Given the description of an element on the screen output the (x, y) to click on. 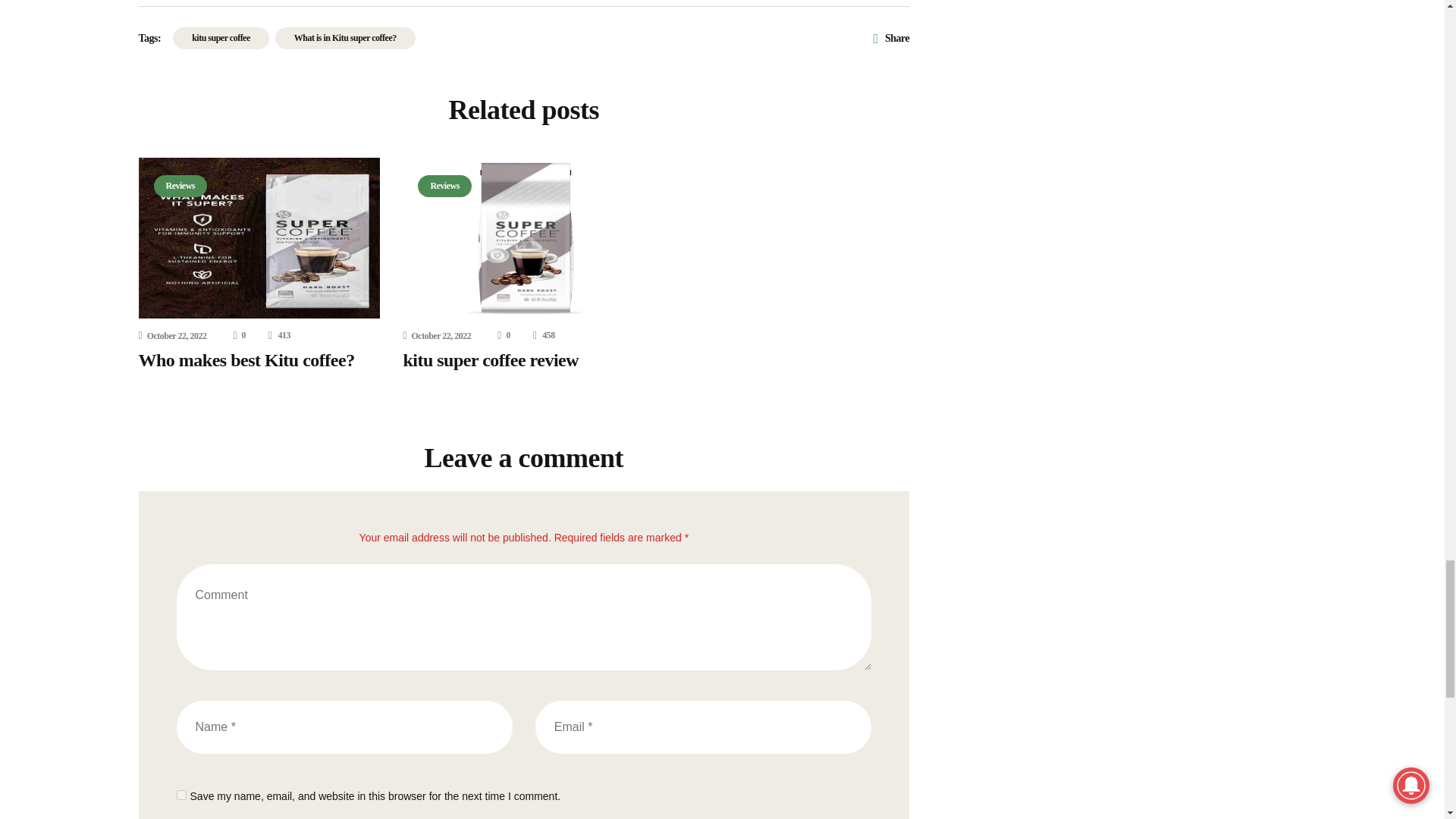
What is in Kitu super coffee? (344, 38)
Reviews (179, 186)
October 22, 2022 (172, 335)
yes (181, 795)
kitu super coffee (221, 38)
